Given the description of an element on the screen output the (x, y) to click on. 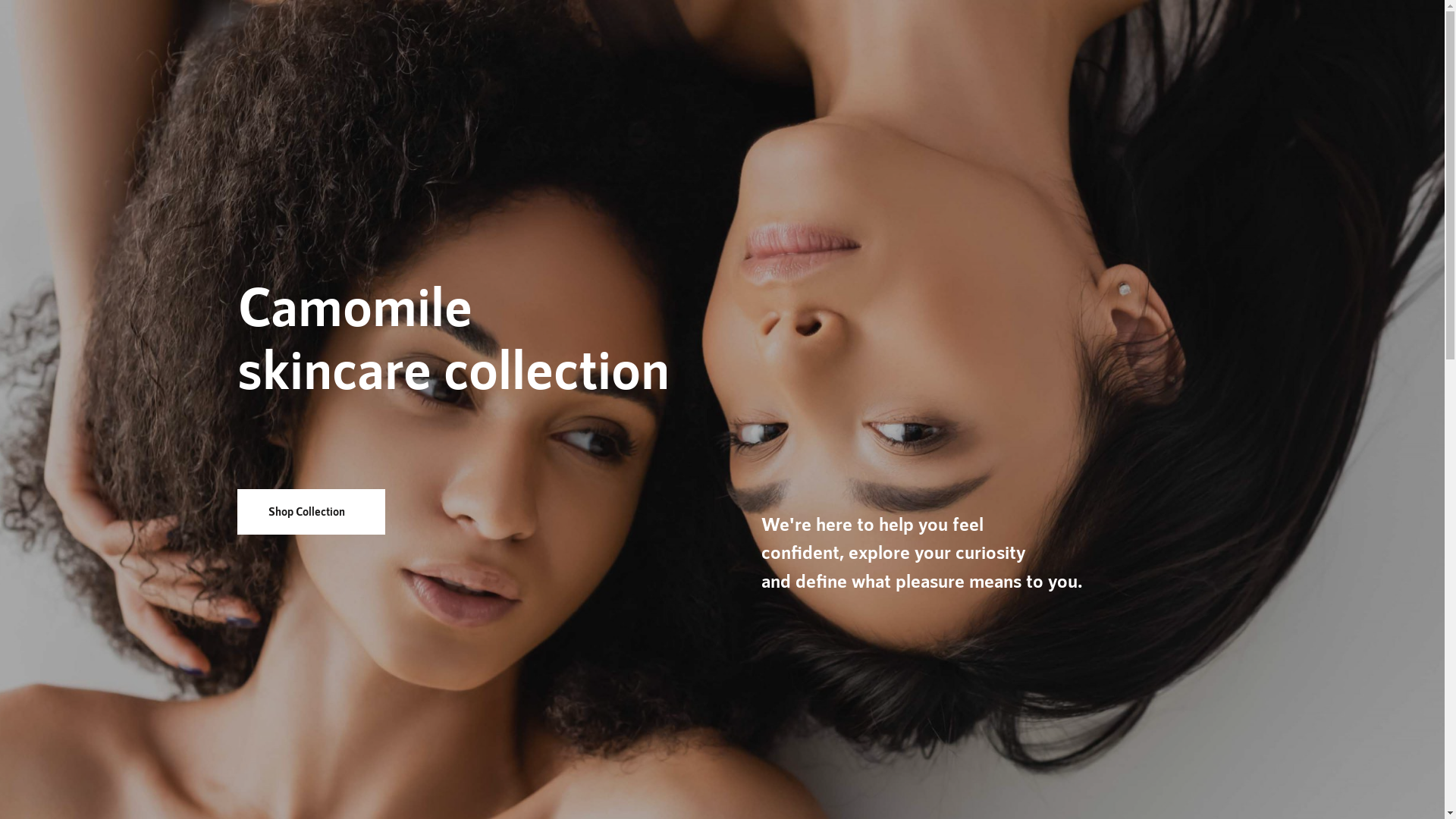
Shop Collection Element type: text (310, 511)
Shop Element type: text (1279, 43)
Services Element type: text (1228, 43)
My Account Element type: text (1330, 43)
About Us Element type: text (1168, 43)
Home Element type: text (1121, 43)
